Given the description of an element on the screen output the (x, y) to click on. 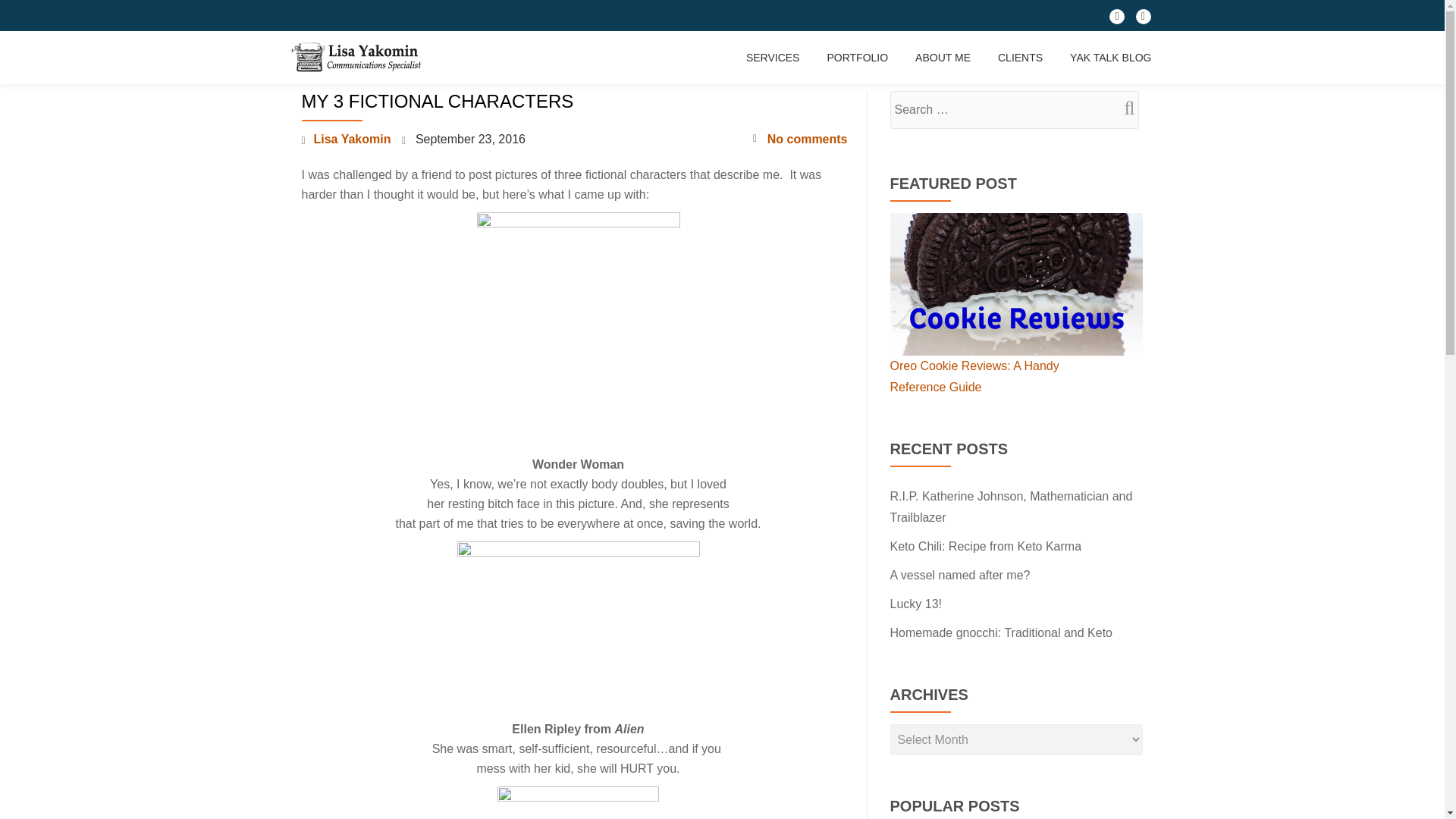
Search (1122, 107)
Homemade gnocchi: Traditional and Keto (1001, 632)
fa-envelope (1143, 19)
Search (1122, 107)
Keto Chili: Recipe from Keto Karma (985, 545)
ABOUT ME (943, 57)
YAK TALK BLOG (1110, 57)
PORTFOLIO (857, 57)
No comments (799, 138)
